Given the description of an element on the screen output the (x, y) to click on. 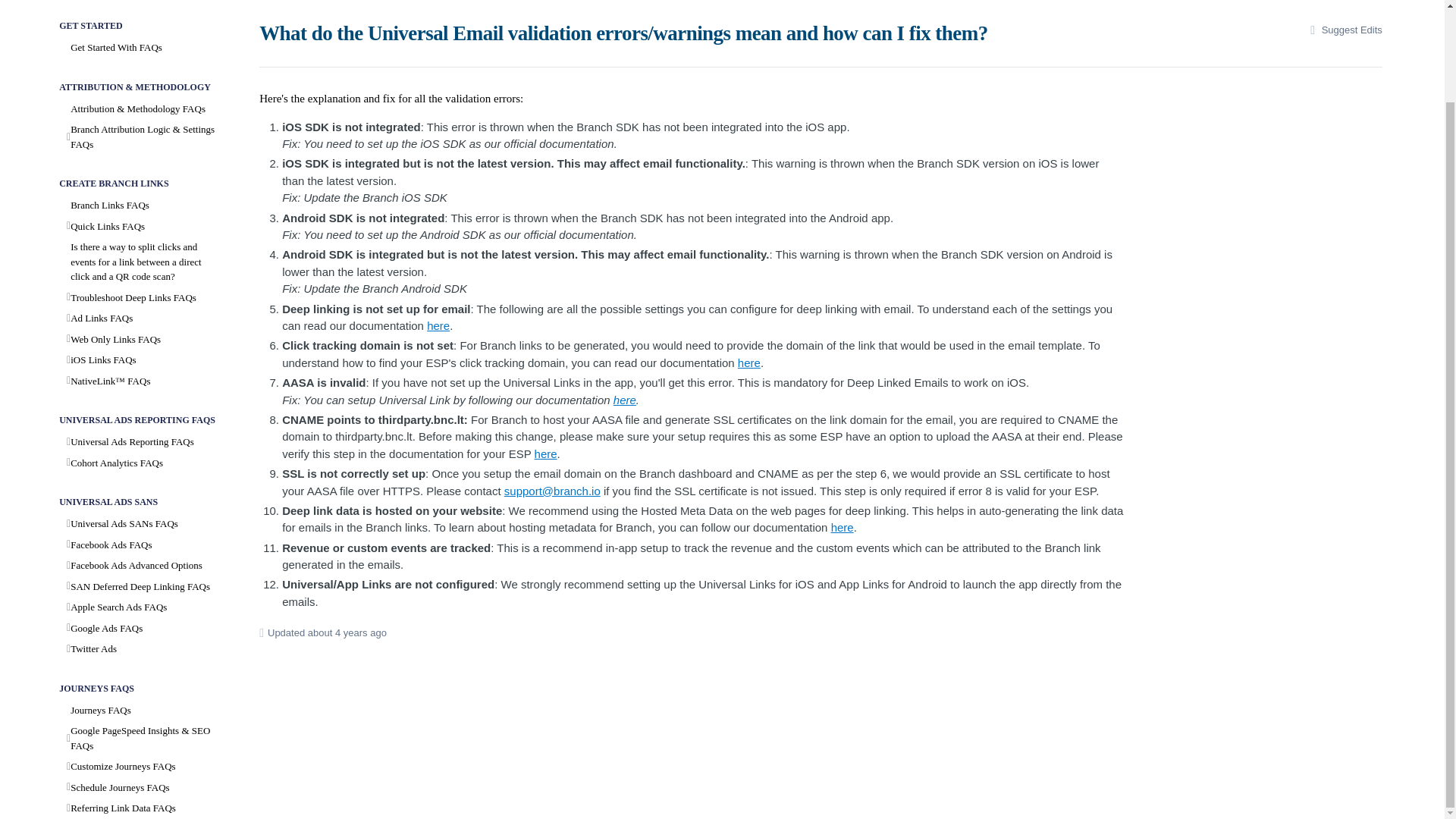
Quick Links FAQs (140, 226)
Get Started With FAQs (140, 47)
Branch Links FAQs (140, 205)
